Given the description of an element on the screen output the (x, y) to click on. 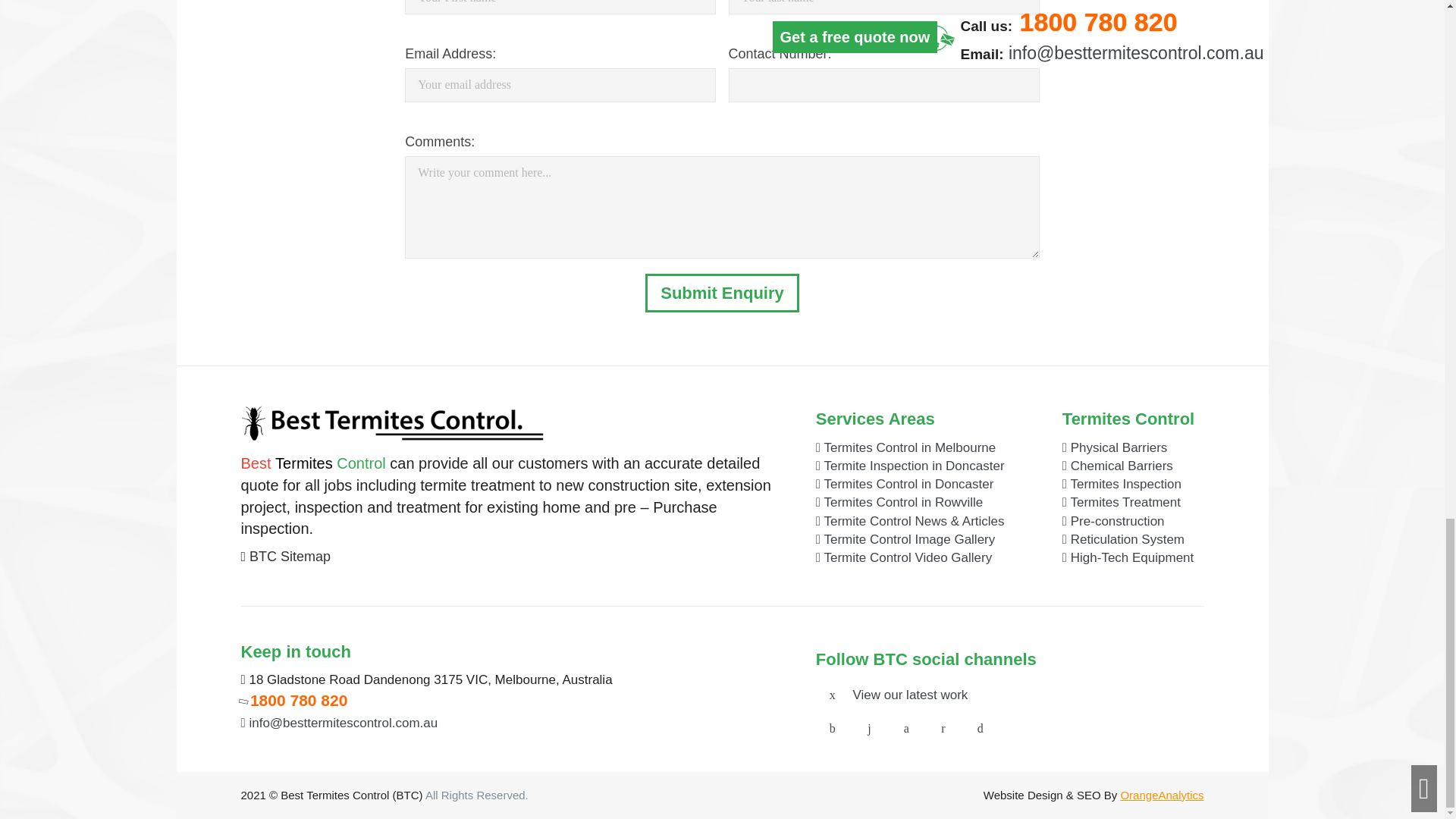
Submit Enquiry (722, 292)
Submit Enquiry (722, 292)
Termites Control in Rowville (898, 502)
Termite Control Image Gallery (904, 539)
Termites Control in Melbourne (905, 447)
Services Areas (874, 418)
Termites Control in Doncaster (904, 483)
Termite Inspection in Doncaster (909, 465)
BTC Sitemap (289, 556)
